Given the description of an element on the screen output the (x, y) to click on. 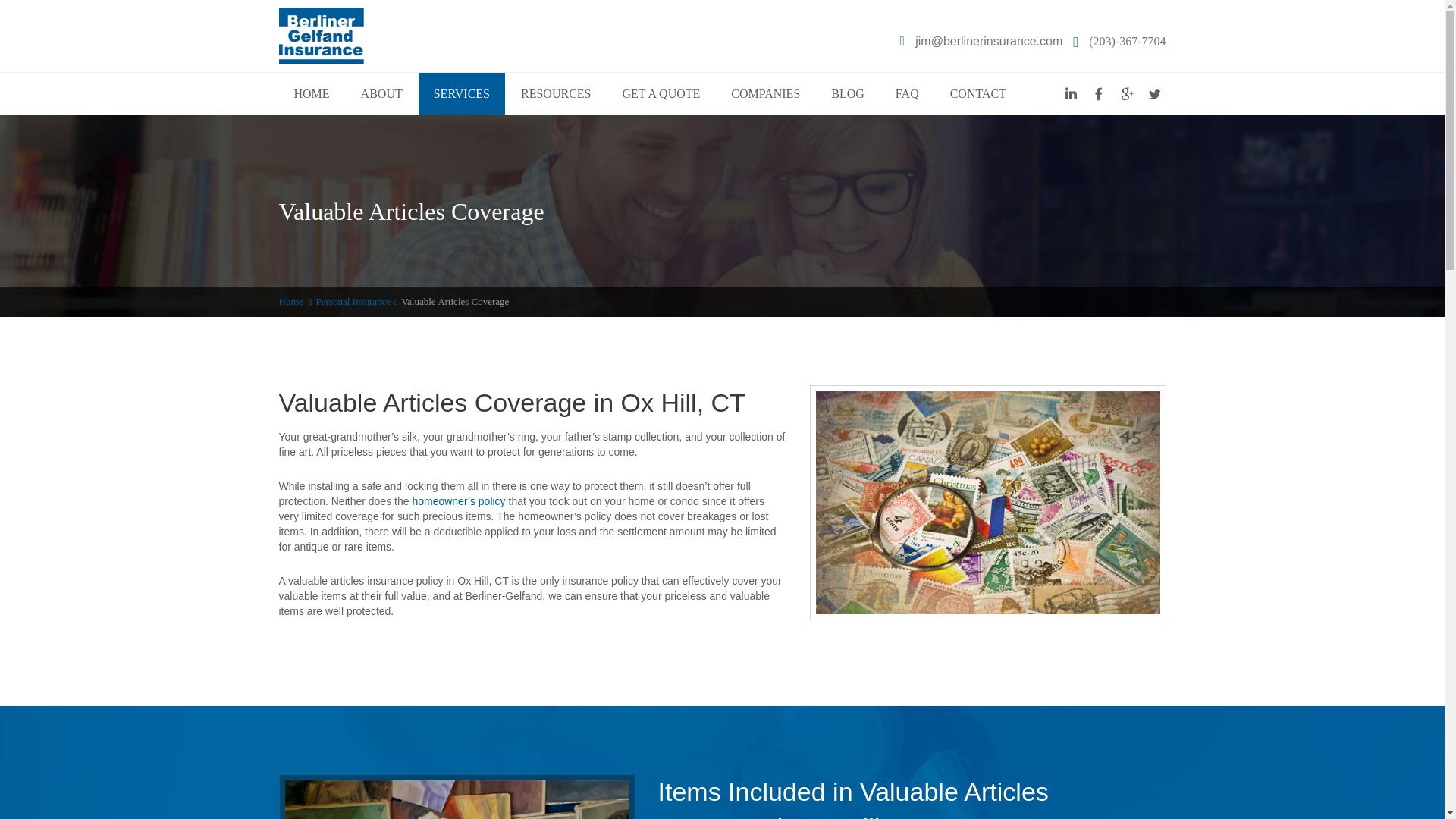
Home (290, 301)
ABOUT (381, 93)
SERVICES (462, 93)
Personal Insurance (353, 301)
BLOG (847, 93)
CONTACT (978, 93)
HOME (312, 93)
GET A QUOTE (660, 93)
Linkedin (1069, 93)
COMPANIES (765, 93)
